Given the description of an element on the screen output the (x, y) to click on. 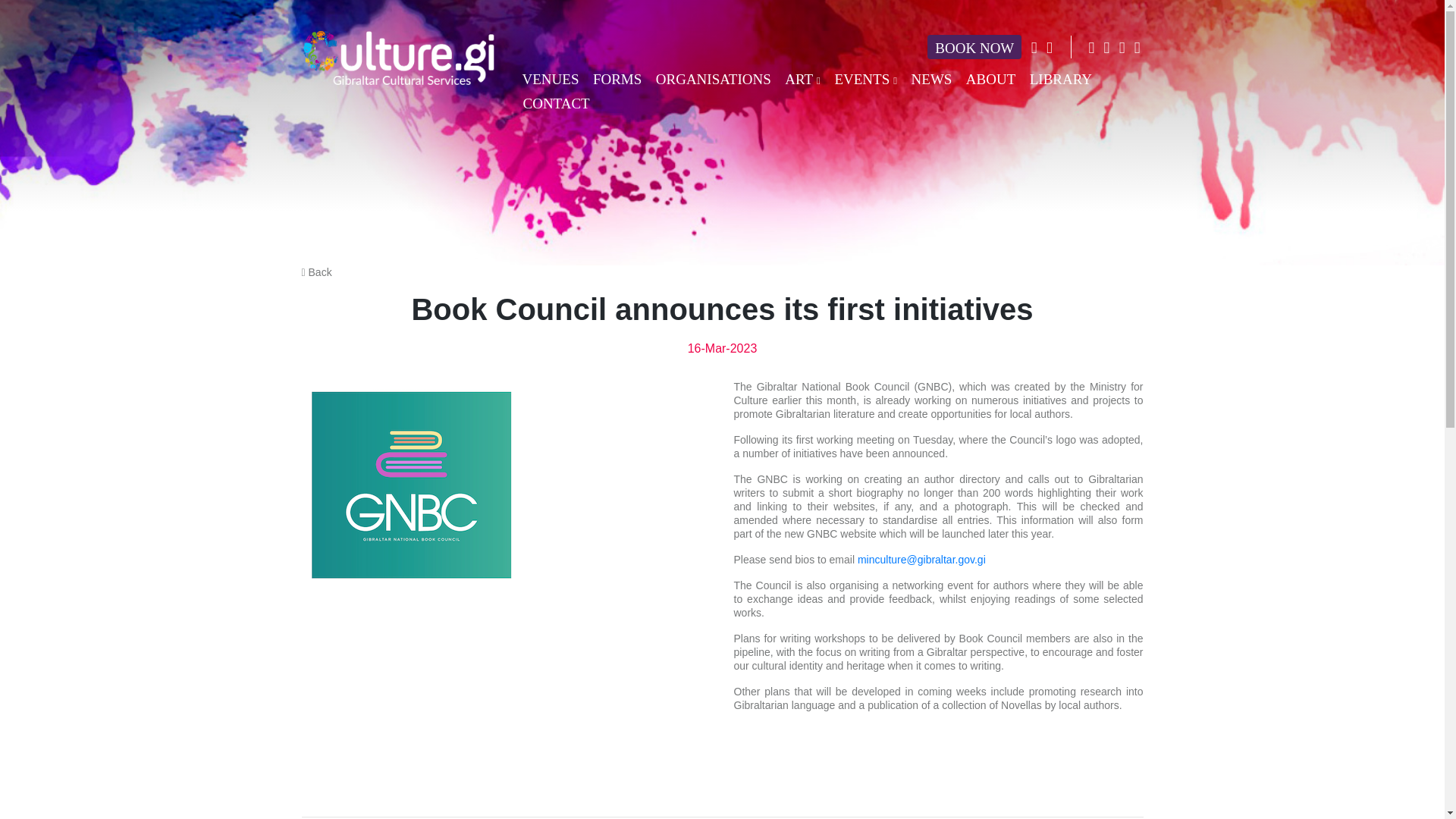
ART (802, 78)
Book Now (974, 46)
ORGANISATIONS (713, 77)
BOOK NOW (974, 46)
FORMS (617, 77)
VENUES (549, 77)
NEWS (931, 77)
ABOUT (990, 77)
Back (316, 272)
CONTACT (556, 101)
LIBRARY (1060, 77)
Gibraltar Cultural Services (398, 57)
Back (316, 272)
EVENTS (865, 78)
